Given the description of an element on the screen output the (x, y) to click on. 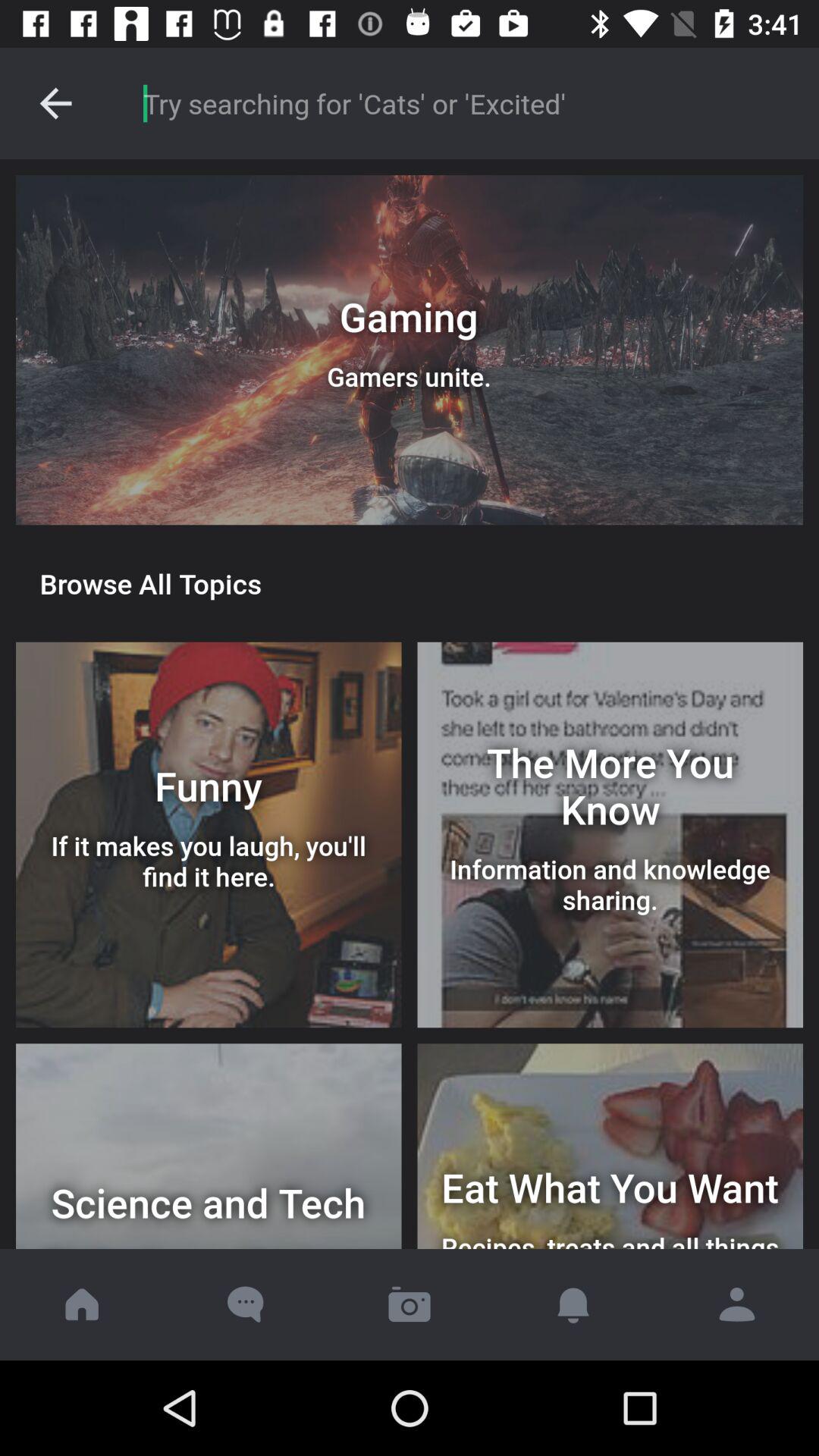
enter search item (465, 103)
